Given the description of an element on the screen output the (x, y) to click on. 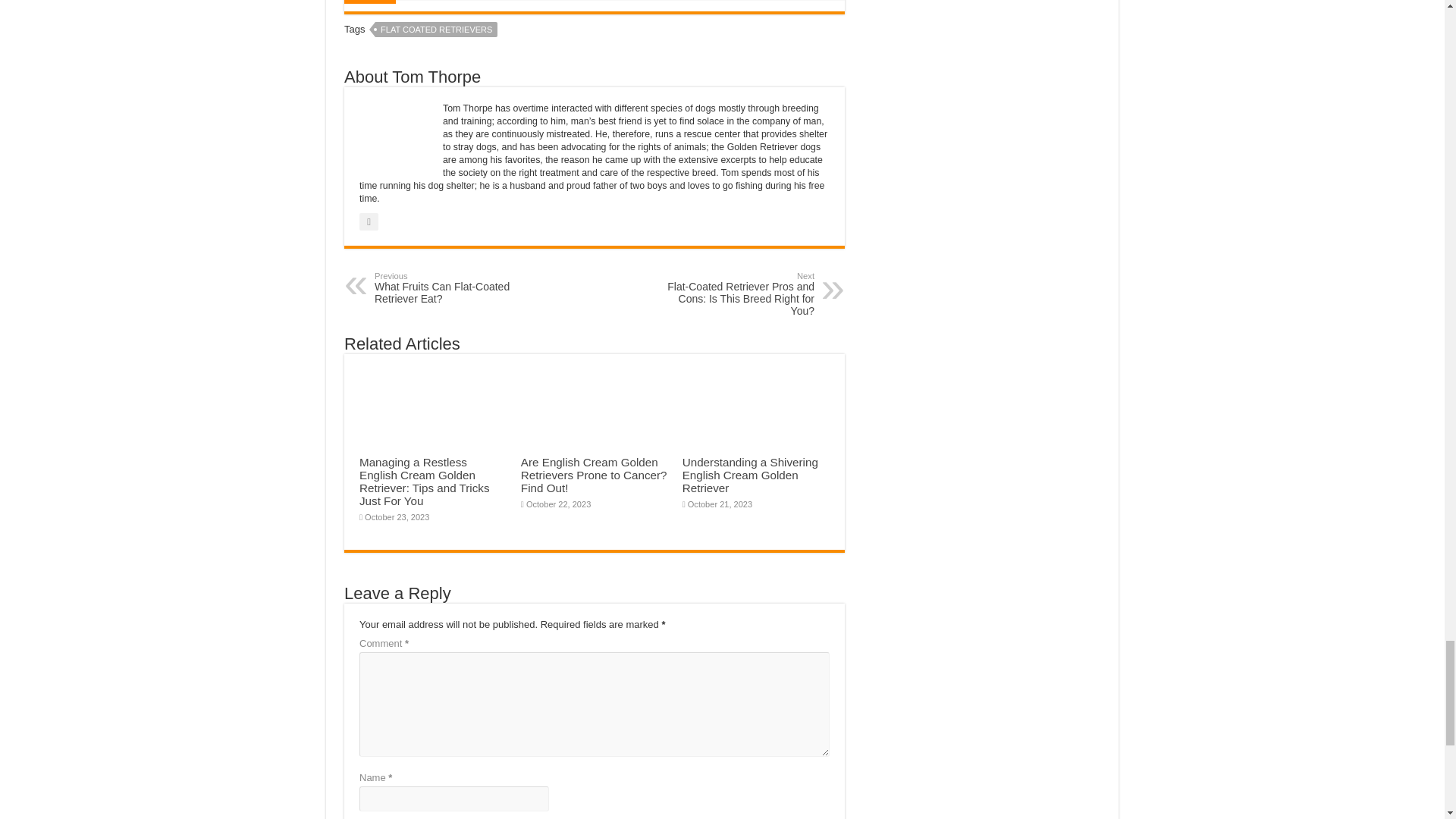
Understanding a Shivering English Cream Golden Retriever (750, 474)
FLAT COATED RETRIEVERS (451, 287)
